Given the description of an element on the screen output the (x, y) to click on. 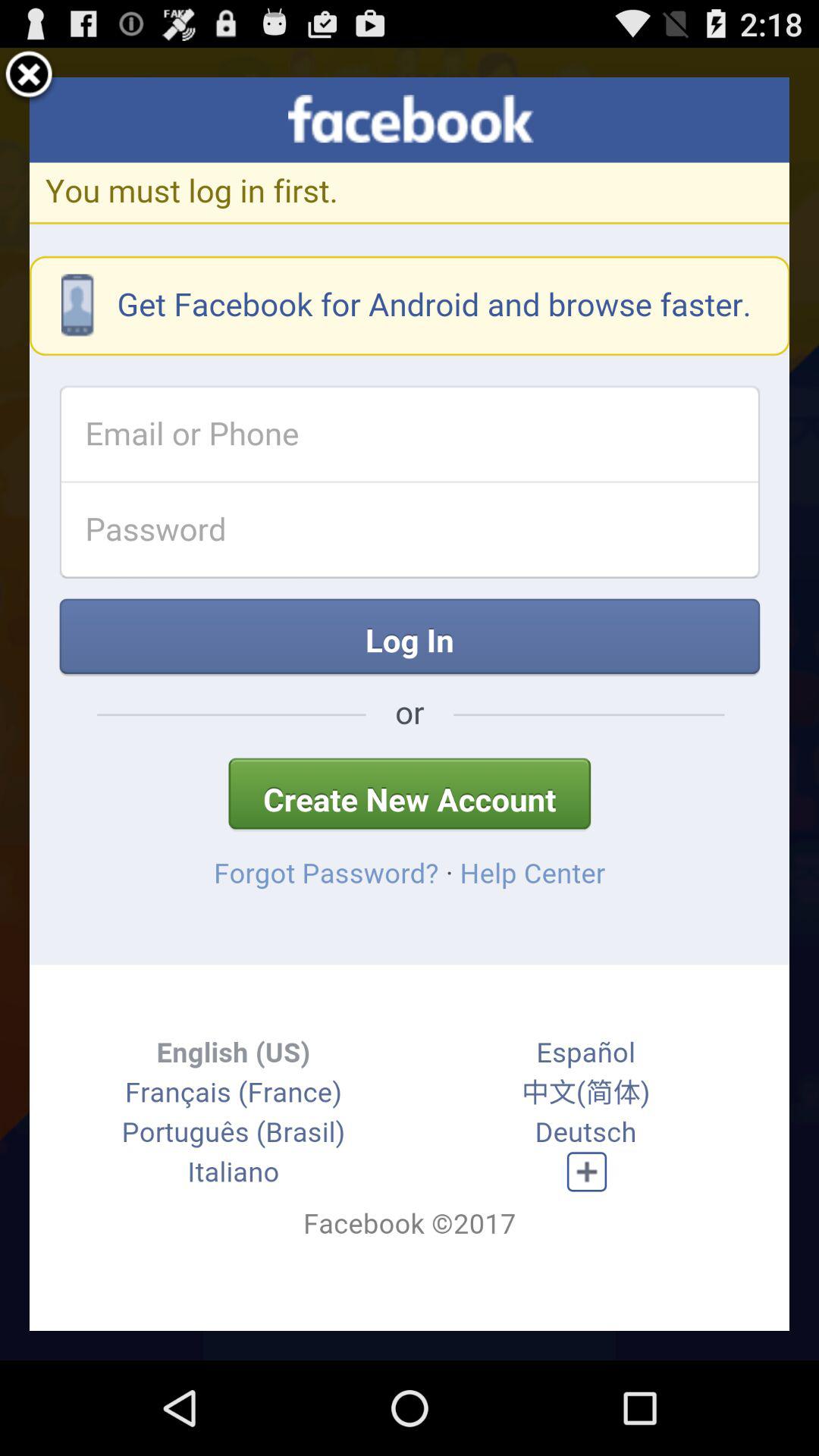
login to facebook (409, 703)
